Given the description of an element on the screen output the (x, y) to click on. 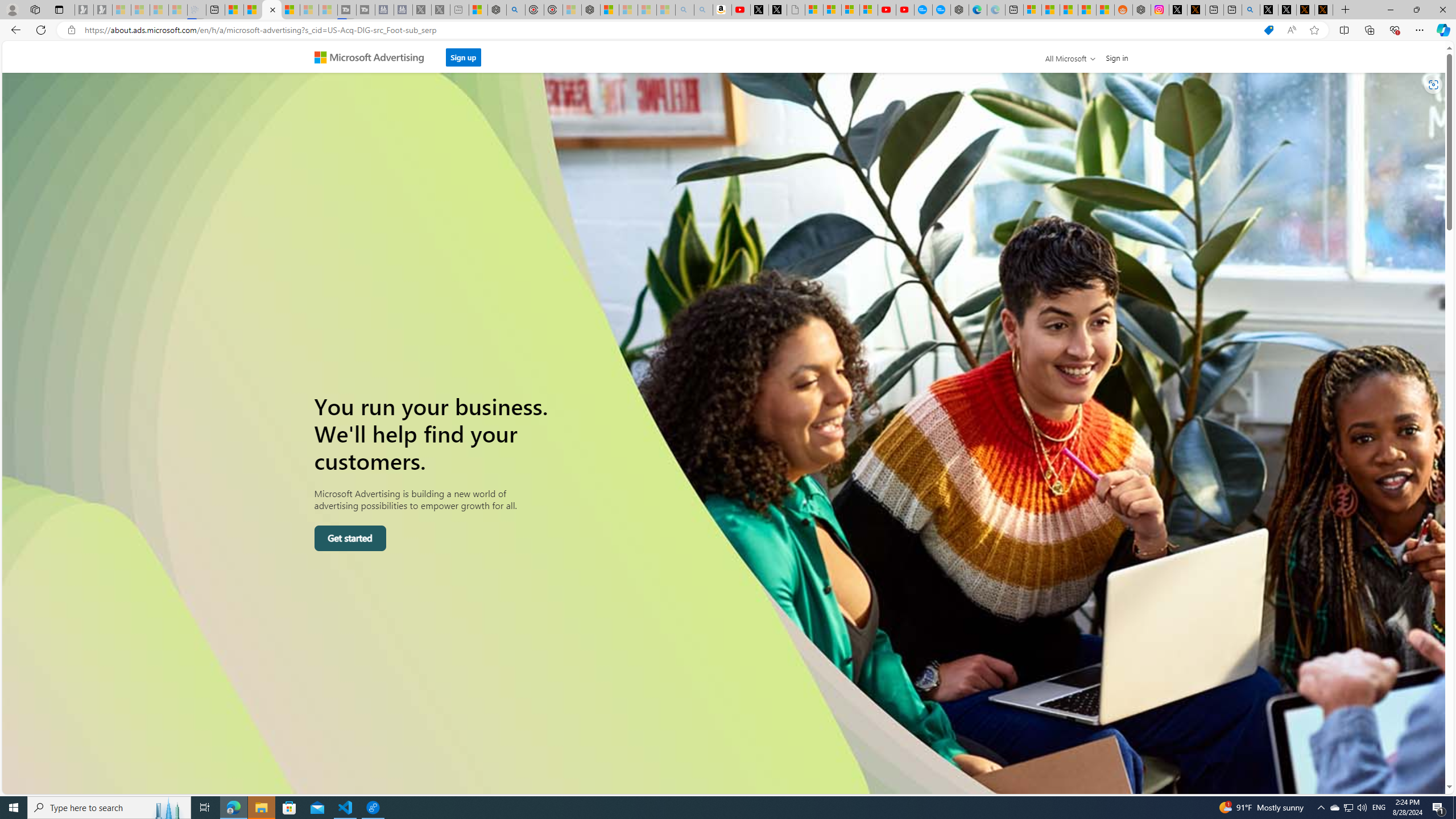
github - Search (1251, 9)
Microsoft Advertising (373, 56)
Streaming Coverage | T3 - Sleeping (347, 9)
The most popular Google 'how to' searches (941, 9)
Overview (271, 9)
Gloom - YouTube (887, 9)
